Given the description of an element on the screen output the (x, y) to click on. 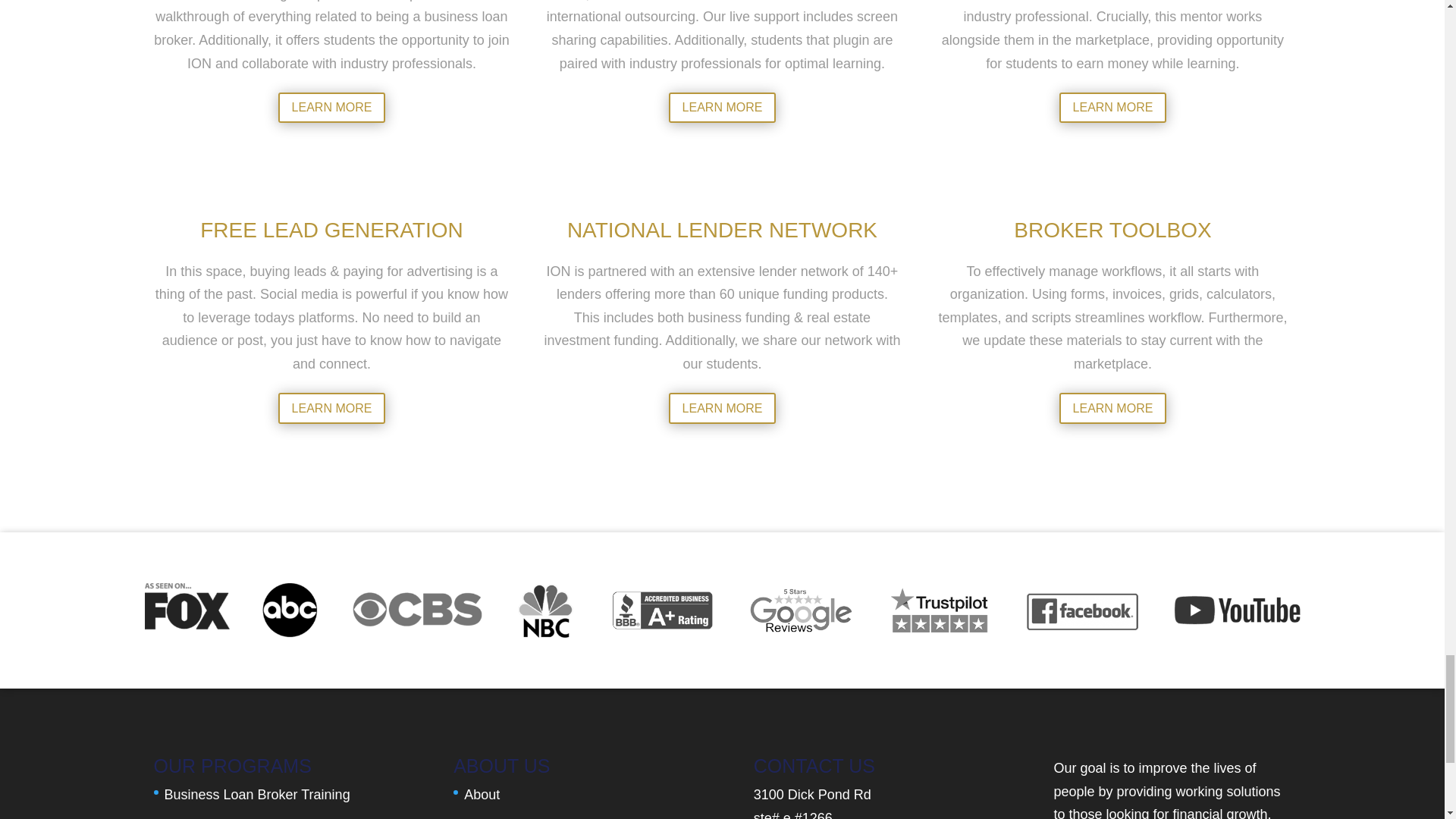
LEARN MORE (722, 408)
LEARN MORE (1113, 107)
Contact (487, 818)
LEARN MORE (331, 107)
LEARN MORE (1113, 408)
Business Loan Broker Training (256, 794)
LEARN MORE (722, 107)
About (481, 794)
LEARN MORE (331, 408)
